Given the description of an element on the screen output the (x, y) to click on. 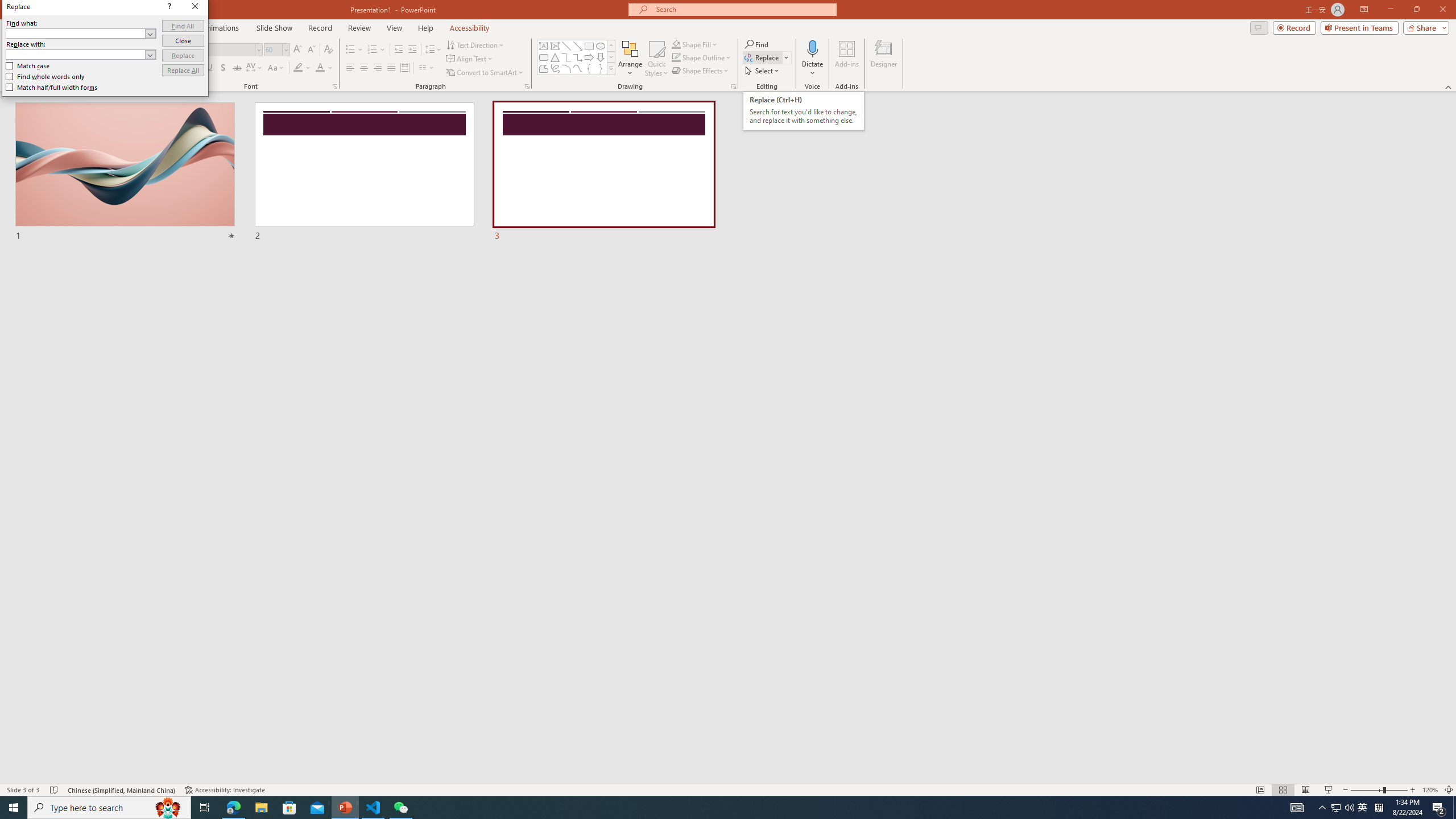
Find what (75, 33)
Replace with (75, 53)
